Given the description of an element on the screen output the (x, y) to click on. 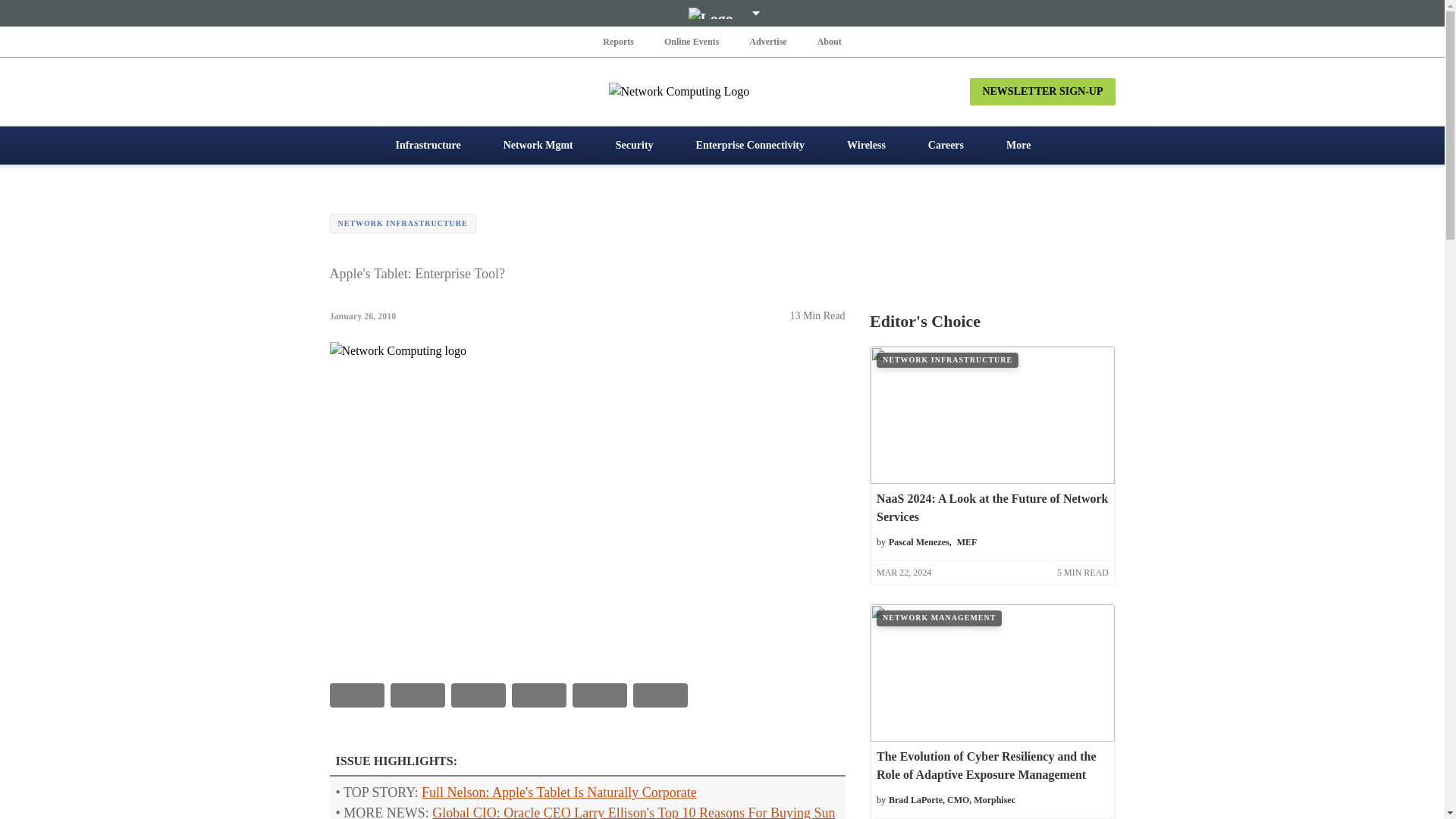
Network Computing Logo (721, 91)
NEWSLETTER SIGN-UP (1042, 90)
Reports (618, 41)
Advertise (767, 41)
About (828, 41)
Online Events (691, 41)
